Given the description of an element on the screen output the (x, y) to click on. 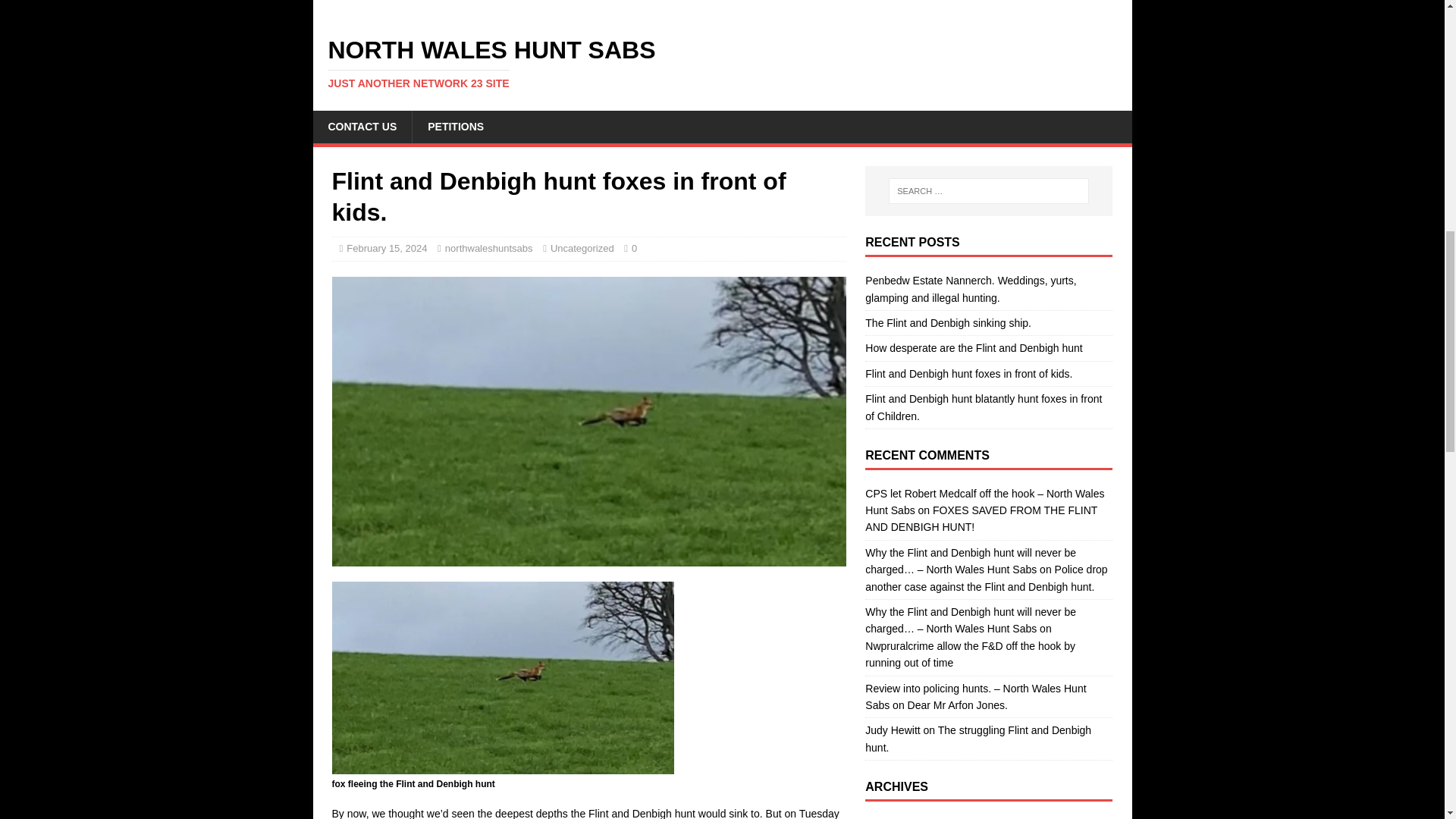
CONTACT US (362, 126)
The Flint and Denbigh sinking ship. (947, 322)
FOXES SAVED FROM THE FLINT AND DENBIGH HUNT! (980, 518)
PETITIONS (455, 126)
Dear Mr Arfon Jones. (957, 705)
Police drop another case against the Flint and Denbigh hunt. (985, 577)
North Wales Hunt Sabs (721, 63)
Uncategorized (582, 247)
Flint and Denbigh hunt foxes in front of kids. (967, 373)
February 15, 2024 (386, 247)
